Given the description of an element on the screen output the (x, y) to click on. 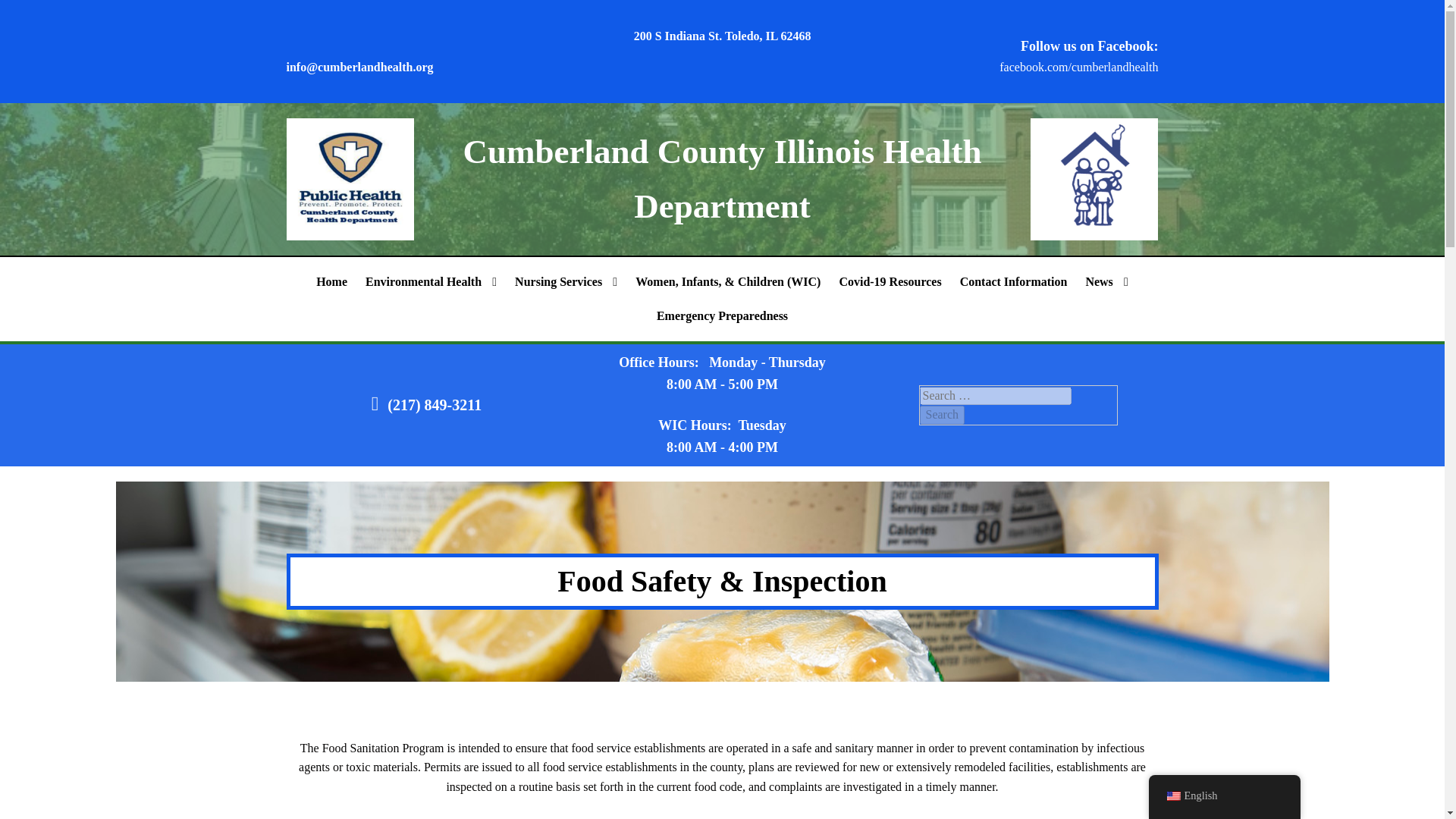
News (1106, 281)
English (1172, 795)
English (1224, 795)
Nursing Services (565, 281)
Home (331, 281)
Search (940, 414)
Emergency Preparedness (721, 315)
Contact Information (1013, 281)
Search (940, 414)
Environmental Health (430, 281)
Covid-19 Resources (890, 281)
Search (940, 414)
HDLogo1 (350, 178)
HDLogo2 (1094, 178)
